Given the description of an element on the screen output the (x, y) to click on. 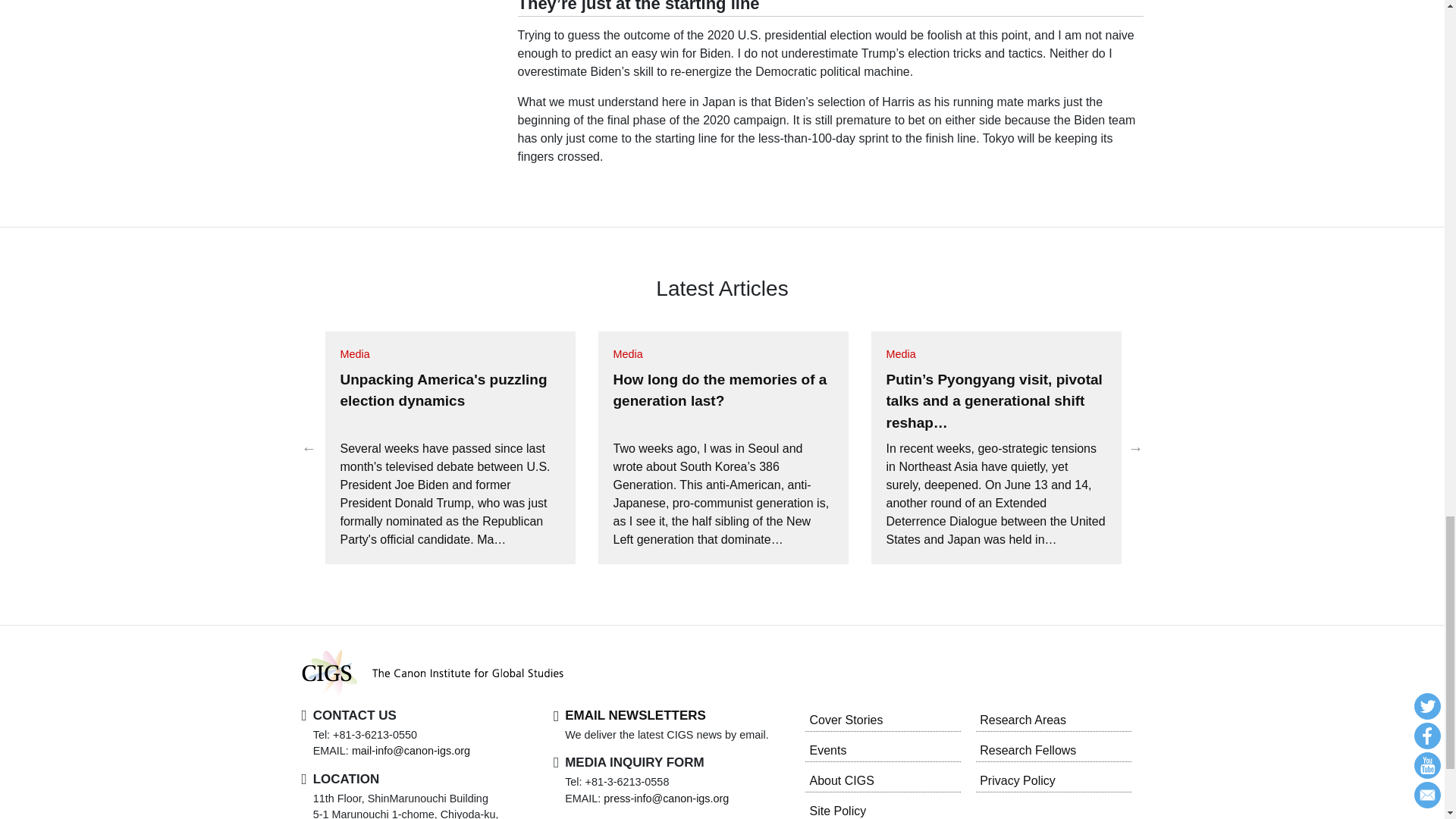
Previous (309, 447)
